Given the description of an element on the screen output the (x, y) to click on. 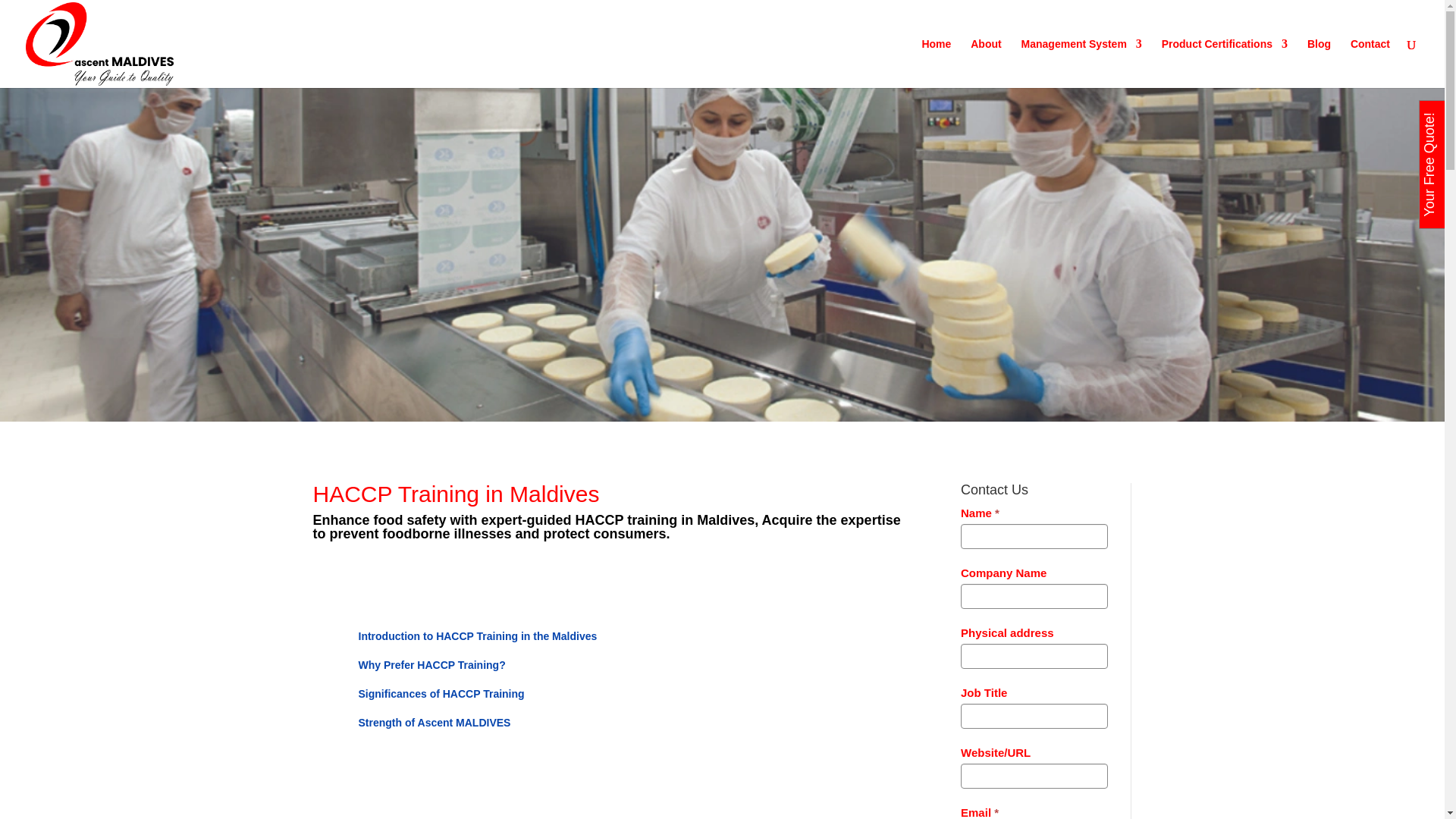
Management System (1081, 62)
Home (935, 62)
About (986, 62)
